Given the description of an element on the screen output the (x, y) to click on. 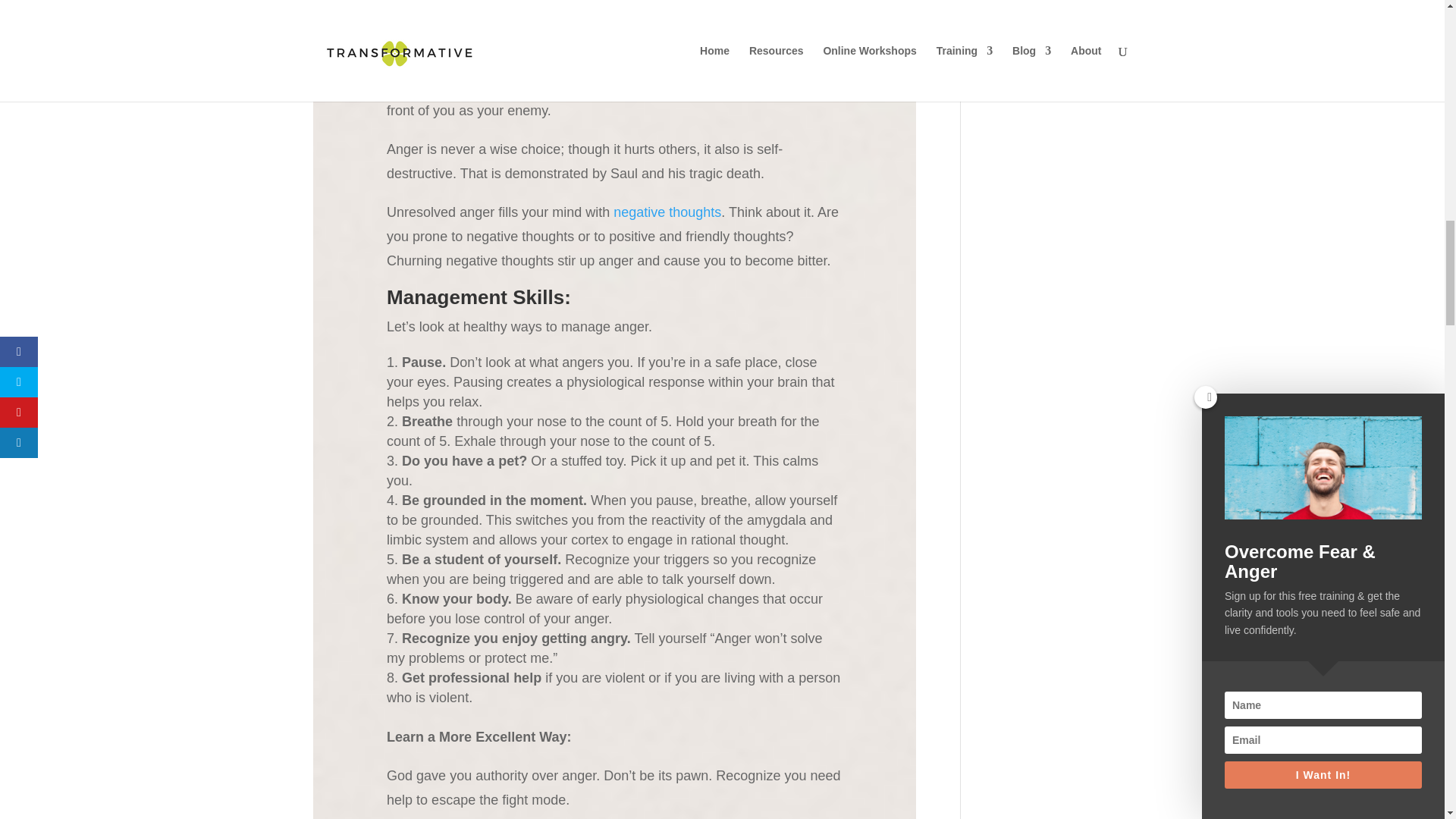
negative thoughts (666, 212)
